Given the description of an element on the screen output the (x, y) to click on. 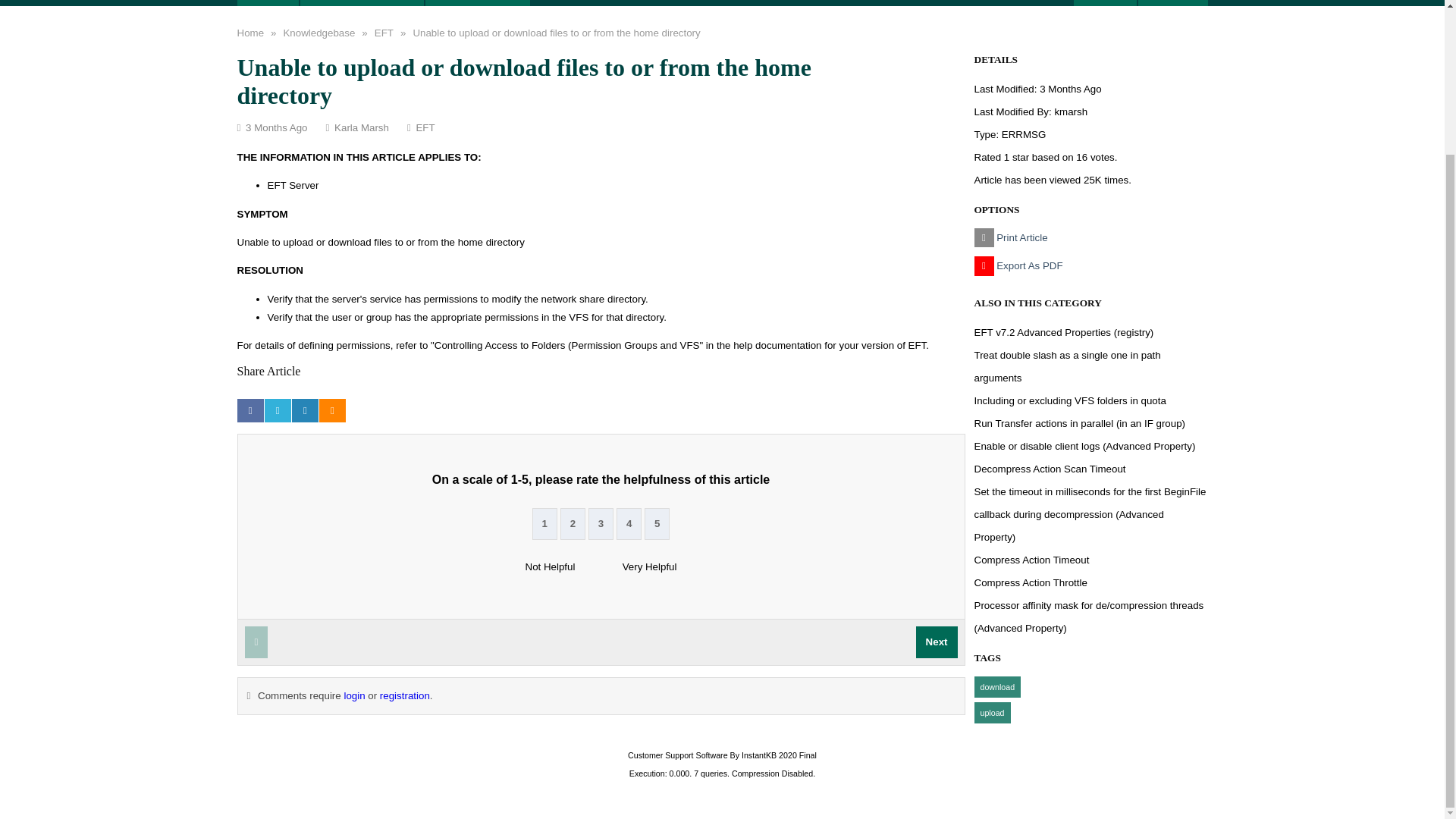
Knowledgebase (361, 2)
EFT (383, 33)
Popular (1173, 2)
Goto profile... (1070, 111)
Share On Facebook (249, 410)
Knowledgebase (318, 33)
EFT (383, 33)
Share Via Email (305, 410)
